Given the description of an element on the screen output the (x, y) to click on. 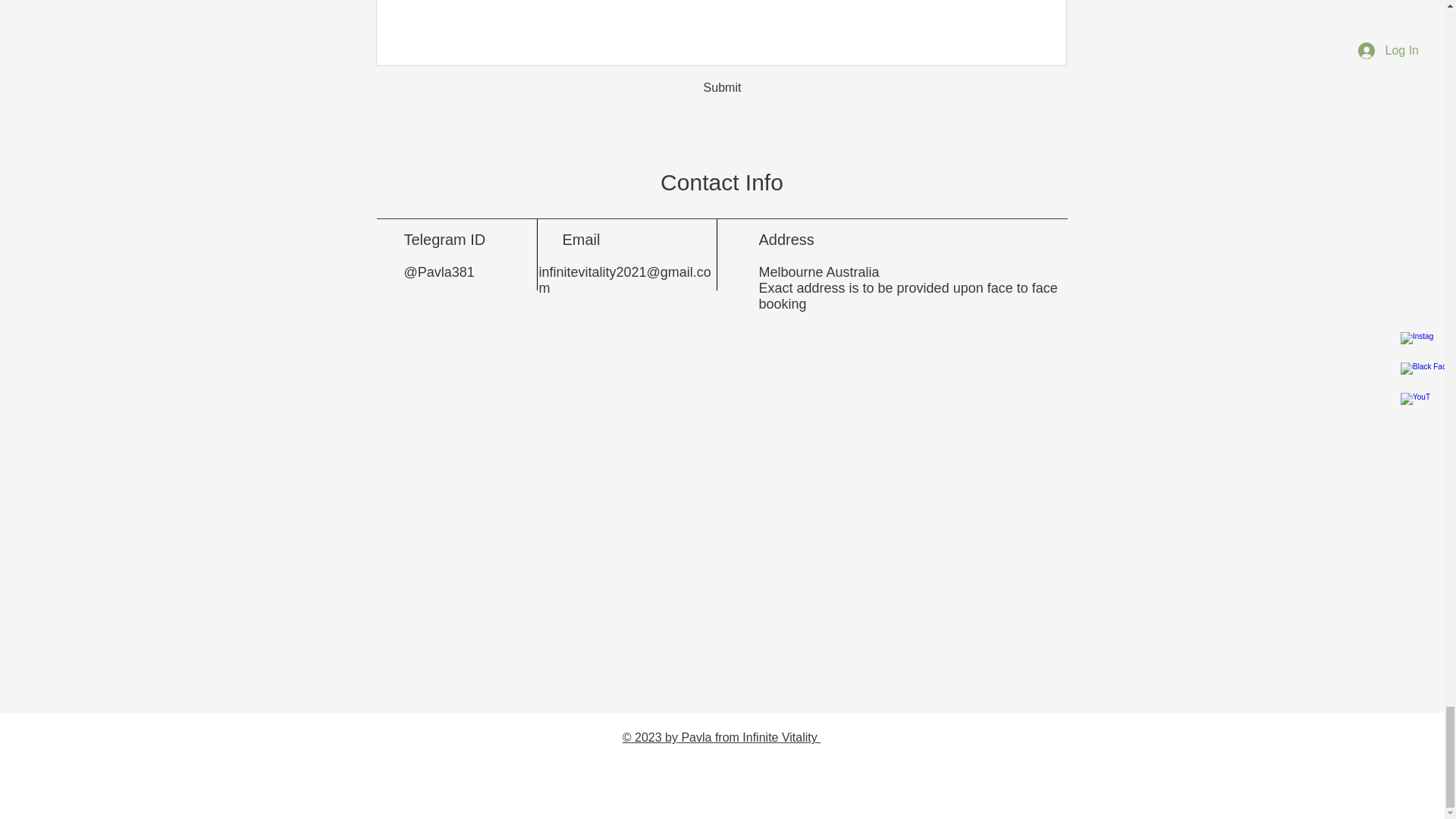
Submit (722, 87)
